Given the description of an element on the screen output the (x, y) to click on. 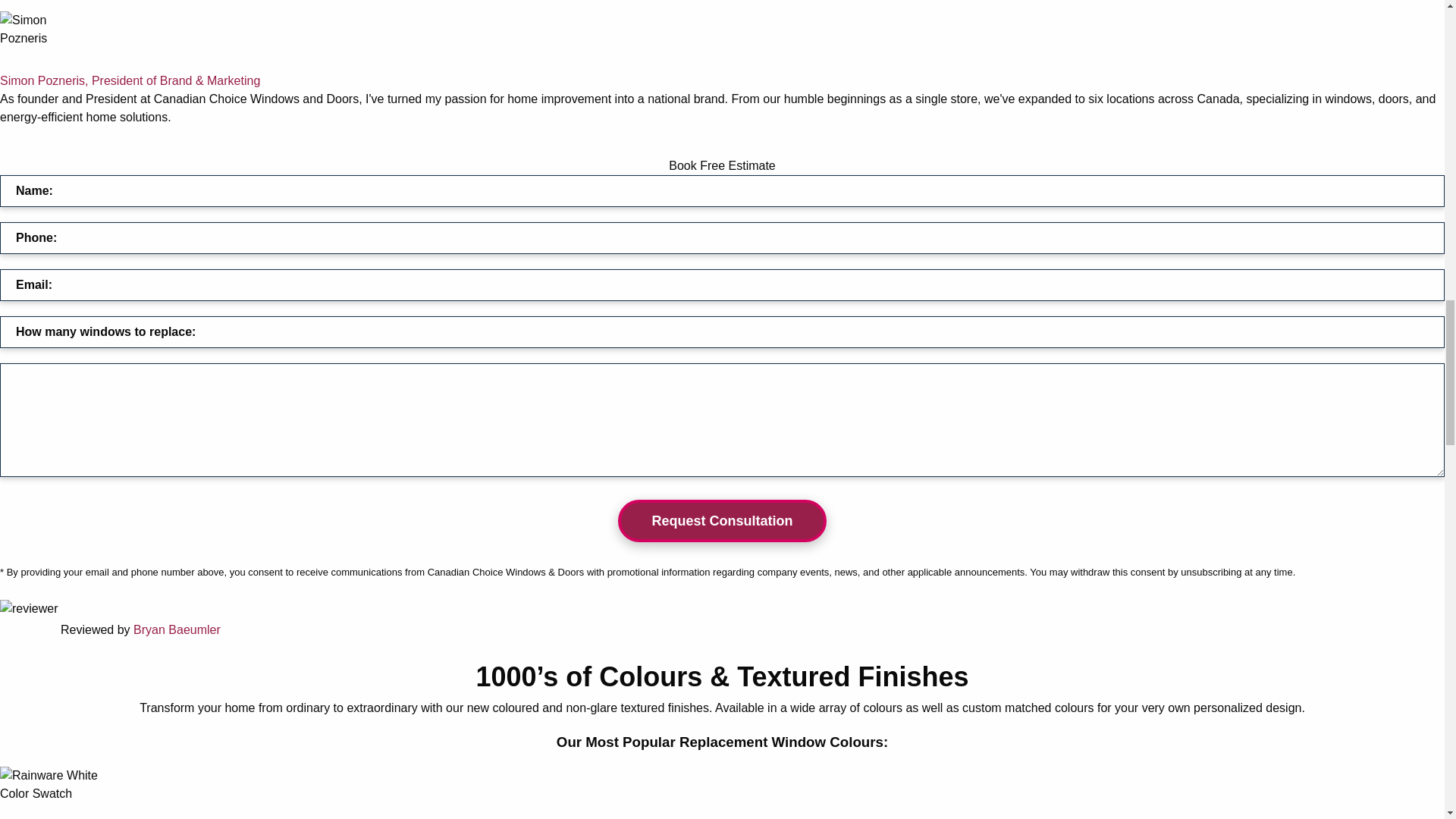
Request Consultation (721, 520)
Bryan Baeumler (177, 629)
